Given the description of an element on the screen output the (x, y) to click on. 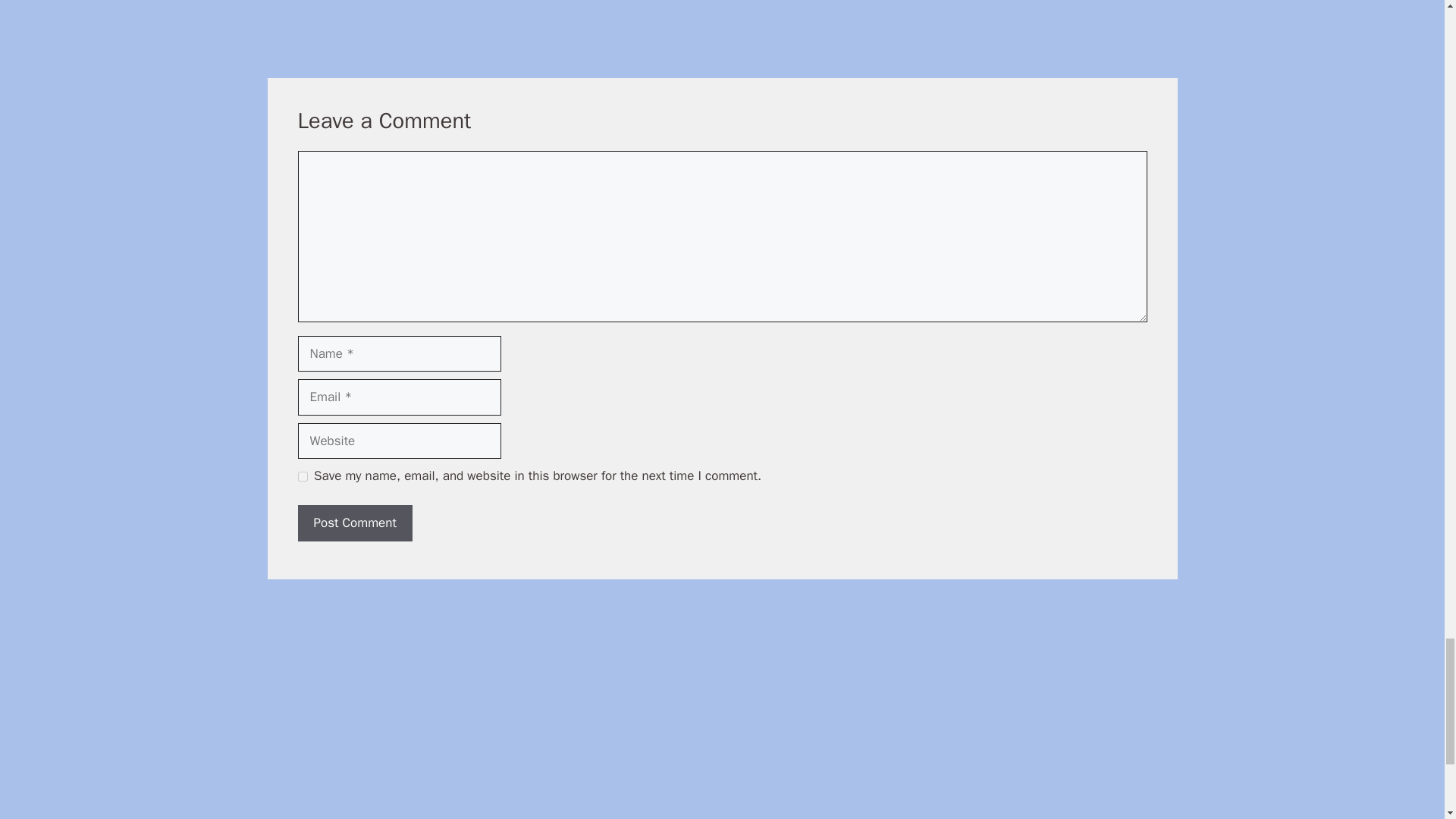
Post Comment (354, 523)
Post Comment (354, 523)
yes (302, 476)
